Given the description of an element on the screen output the (x, y) to click on. 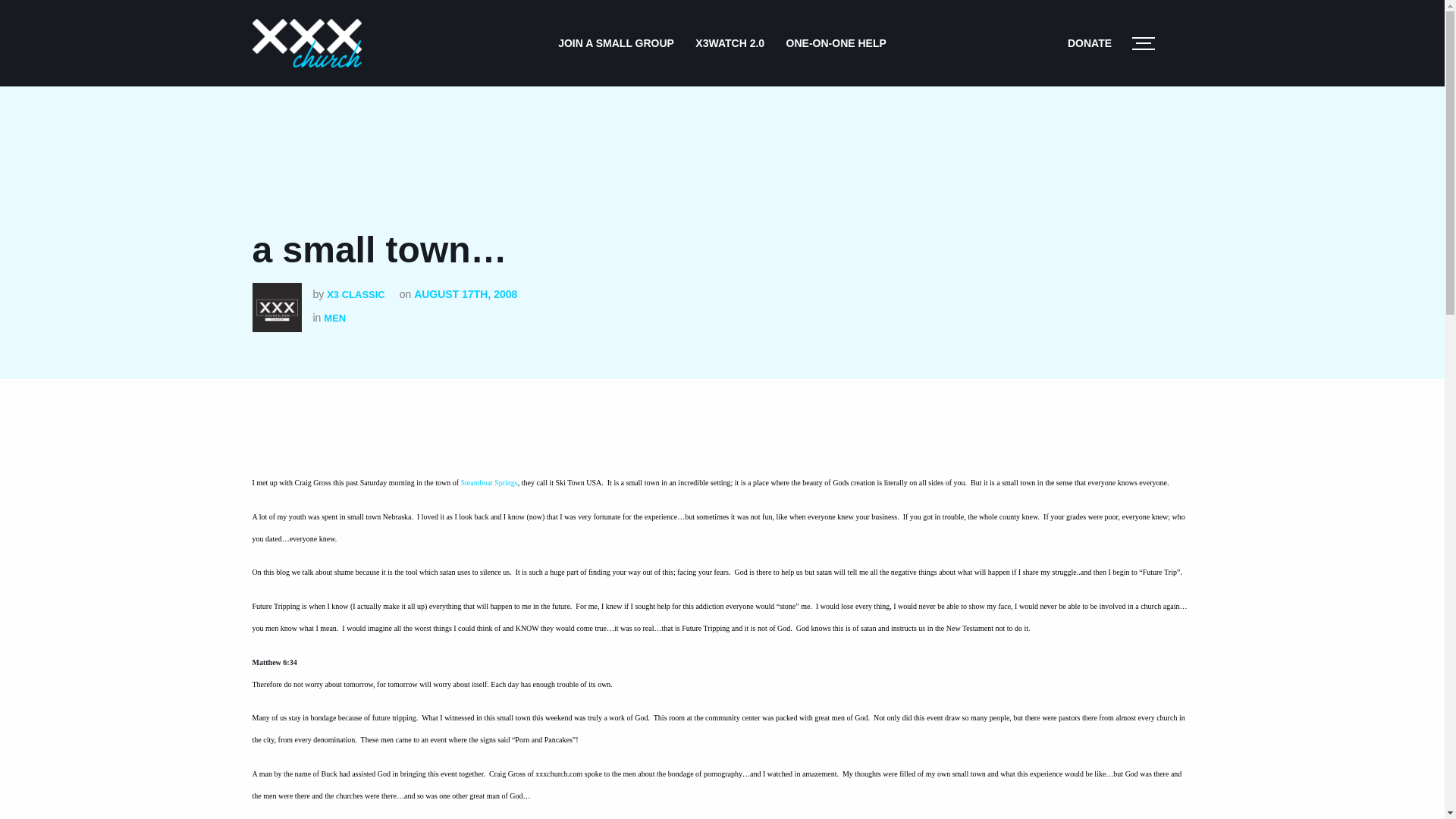
ONE-ON-ONE HELP (836, 43)
DONATE (1089, 43)
JOIN A SMALL GROUP (615, 43)
X3WATCH 2.0 (729, 43)
